Given the description of an element on the screen output the (x, y) to click on. 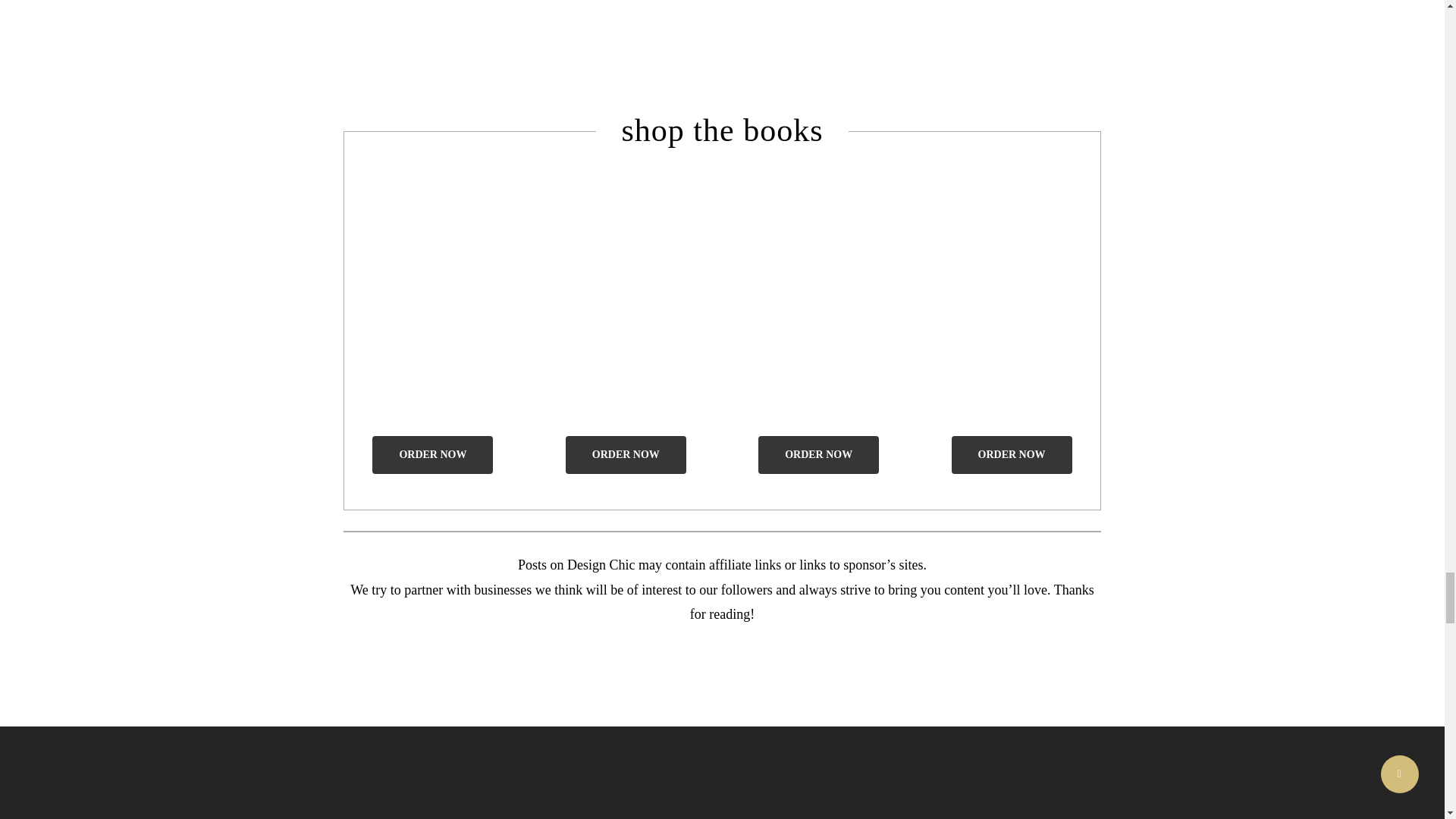
ORDER NOW (432, 454)
